Given the description of an element on the screen output the (x, y) to click on. 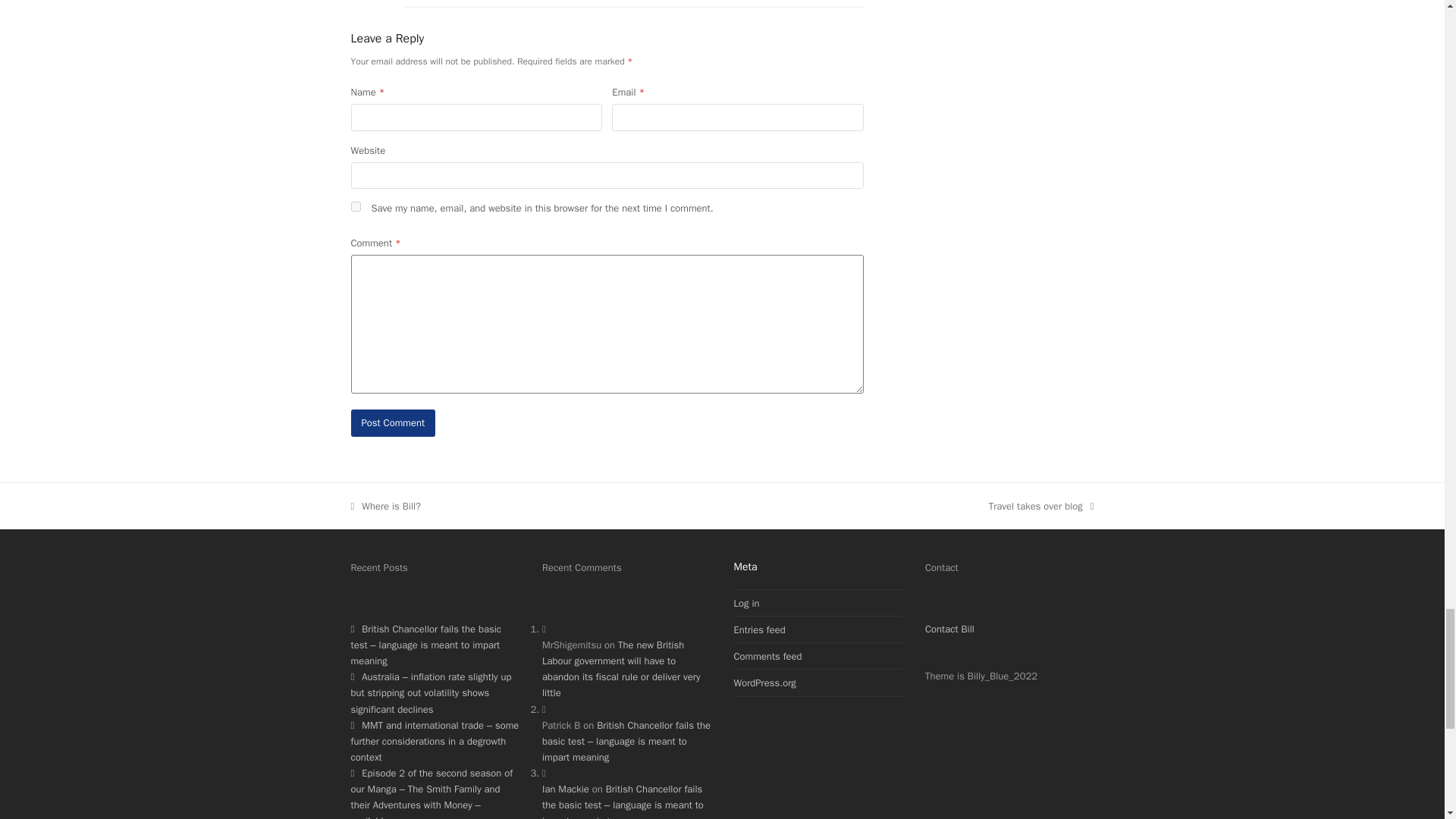
Post Comment (392, 422)
yes (354, 206)
